Given the description of an element on the screen output the (x, y) to click on. 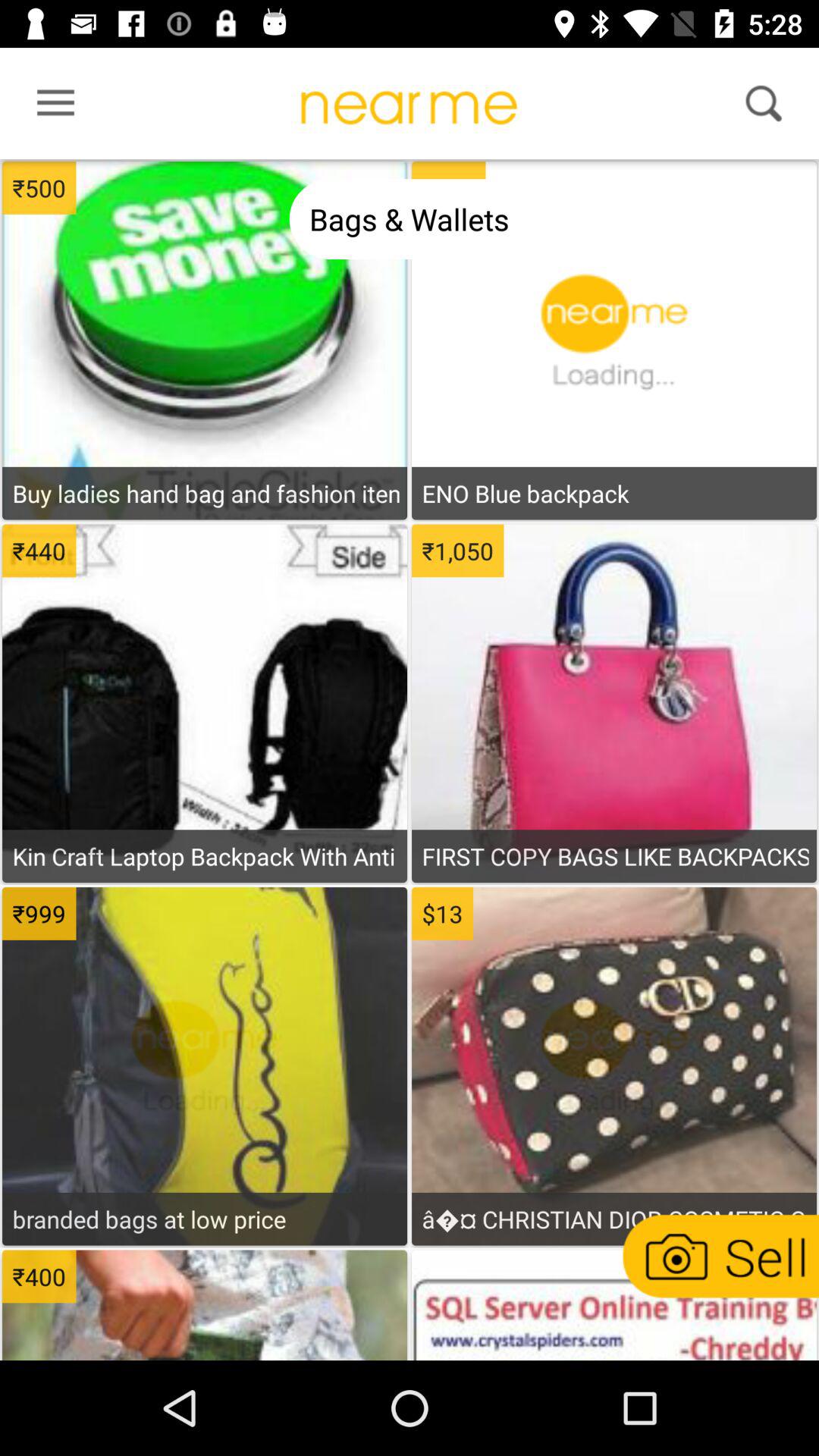
sell a product (719, 1255)
